Given the description of an element on the screen output the (x, y) to click on. 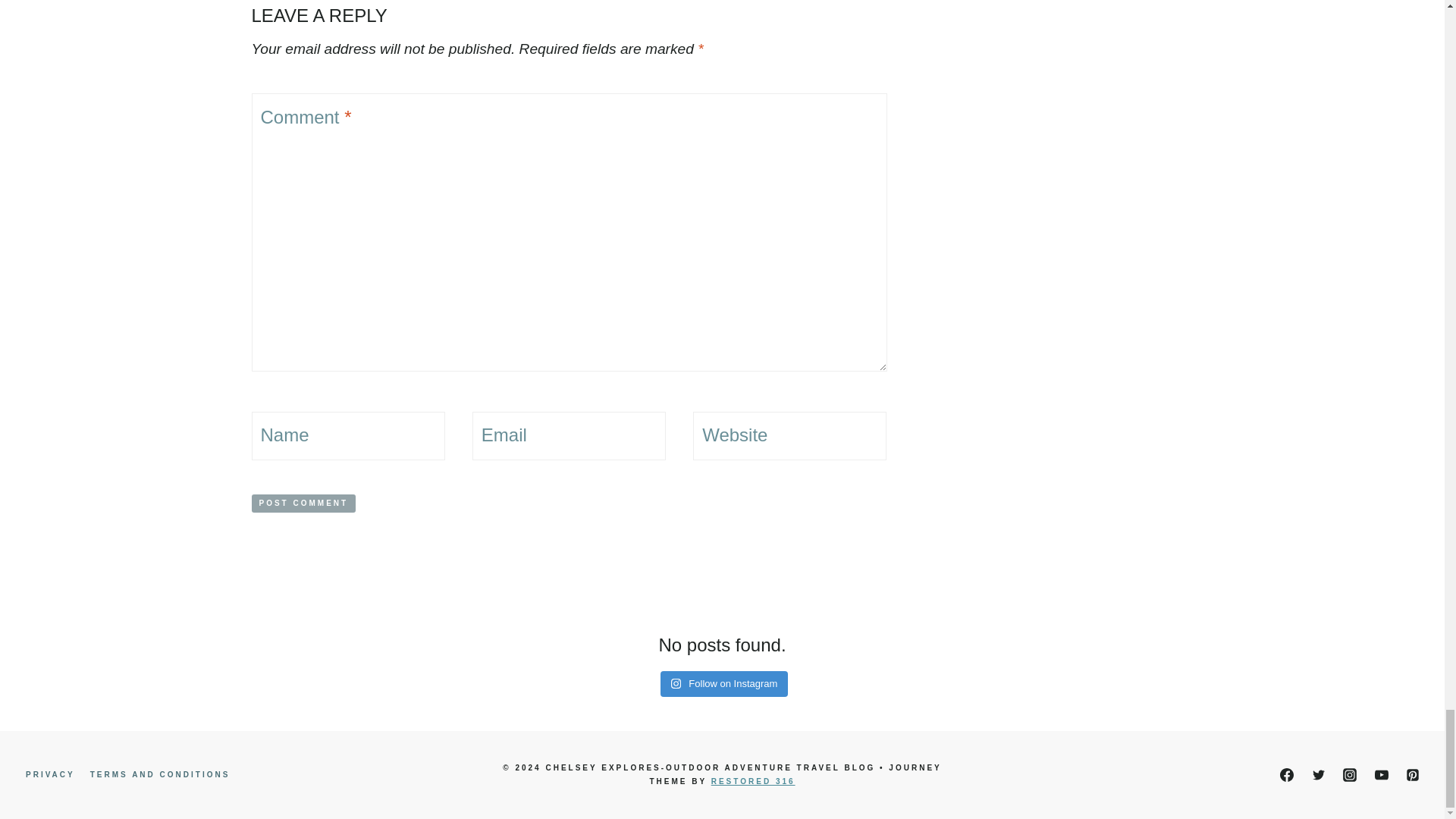
Post Comment (303, 503)
